Given the description of an element on the screen output the (x, y) to click on. 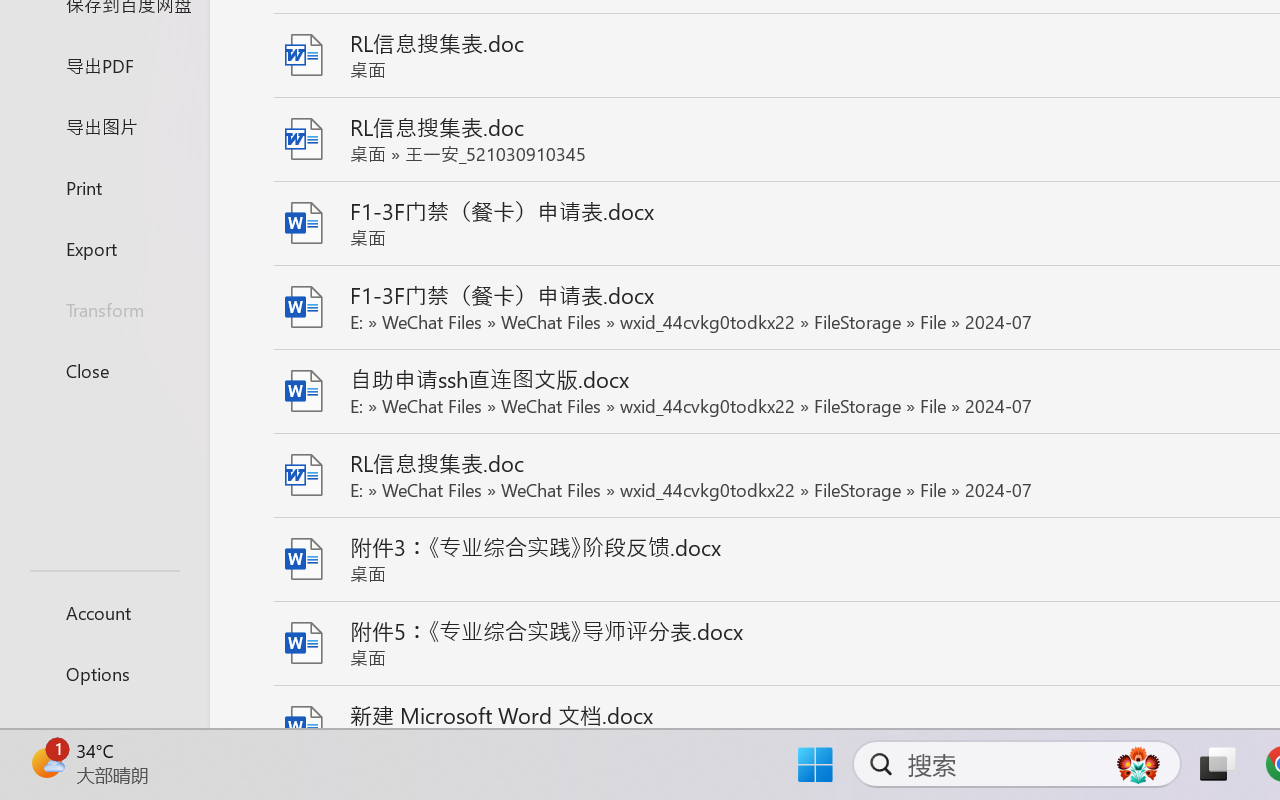
Account (104, 612)
Options (104, 673)
Print (104, 186)
Transform (104, 309)
Export (104, 248)
AutomationID: DynamicSearchBoxGleamImage (1138, 764)
Close (104, 370)
AutomationID: BadgeAnchorLargeTicker (46, 762)
